Given the description of an element on the screen output the (x, y) to click on. 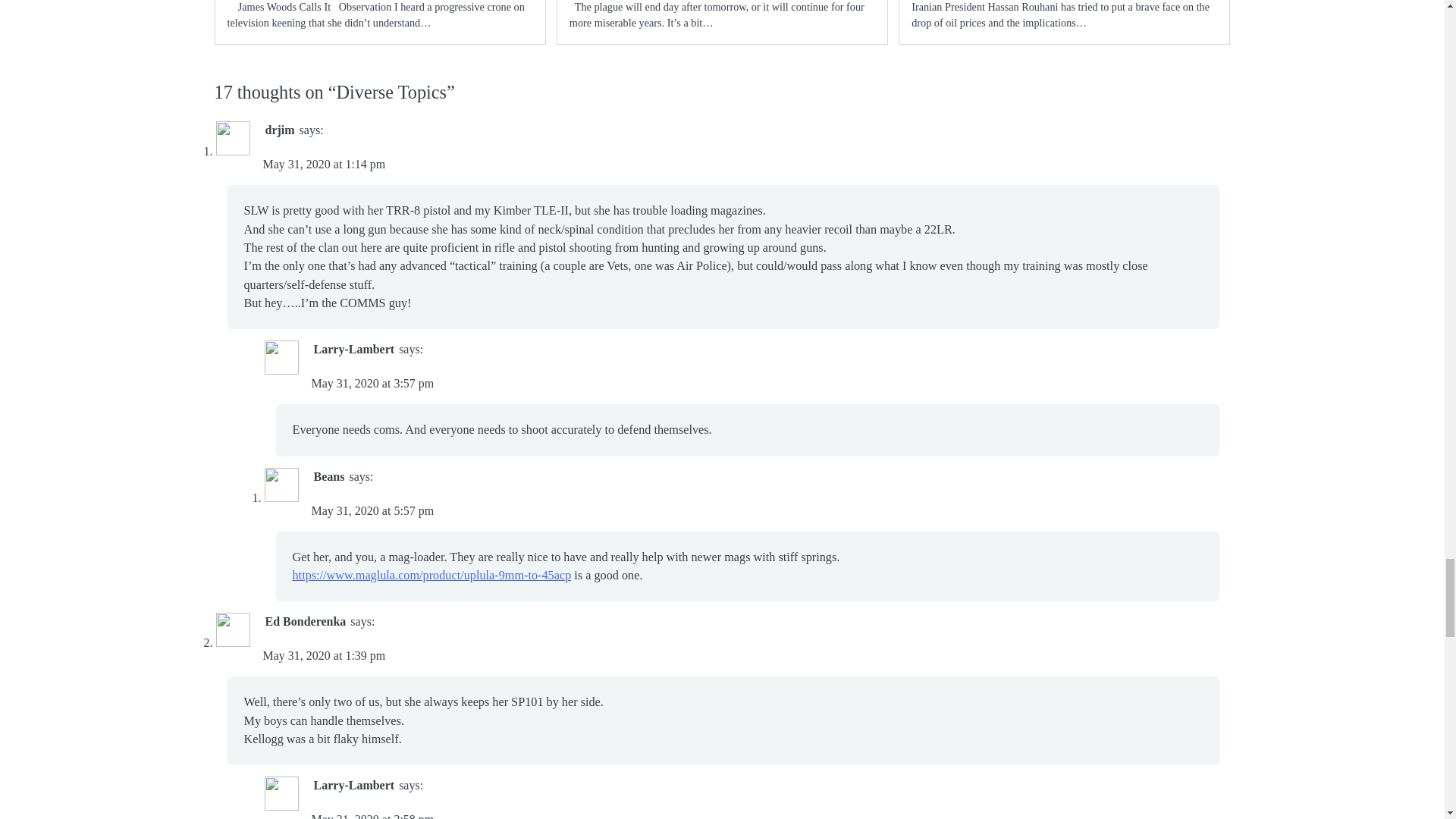
May 31, 2020 at 1:39 pm (323, 655)
May 31, 2020 at 1:14 pm (323, 164)
May 31, 2020 at 3:57 pm (372, 382)
drjim (279, 129)
Ed Bonderenka (305, 621)
May 31, 2020 at 5:57 pm (372, 510)
May 31, 2020 at 3:58 pm (372, 816)
